Given the description of an element on the screen output the (x, y) to click on. 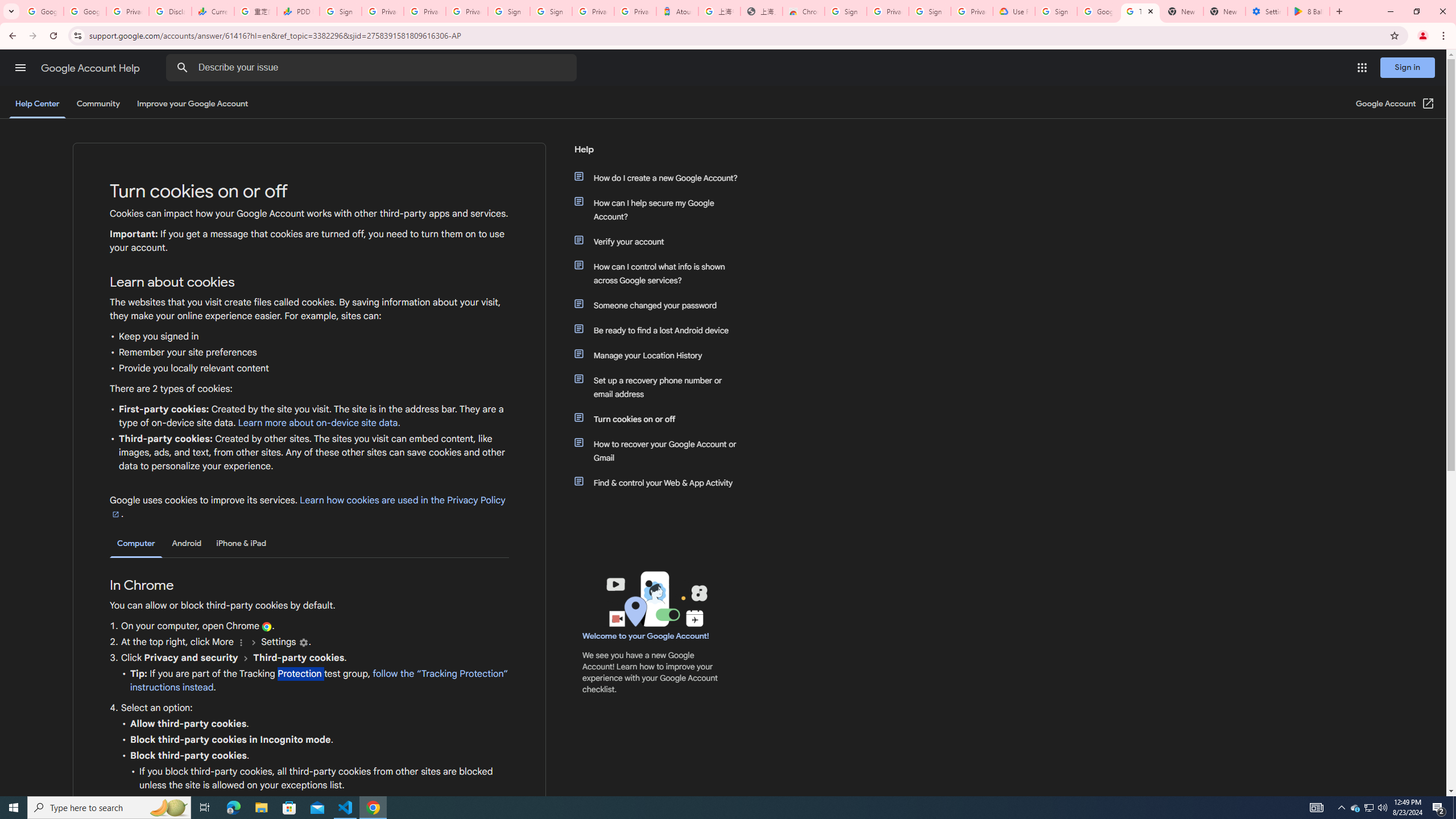
Android (186, 542)
Main menu (20, 67)
How can I control what info is shown across Google services? (661, 273)
Set up a recovery phone number or email address (661, 387)
Computer (136, 543)
iPhone & iPad (240, 542)
Sign in - Google Accounts (845, 11)
